Given the description of an element on the screen output the (x, y) to click on. 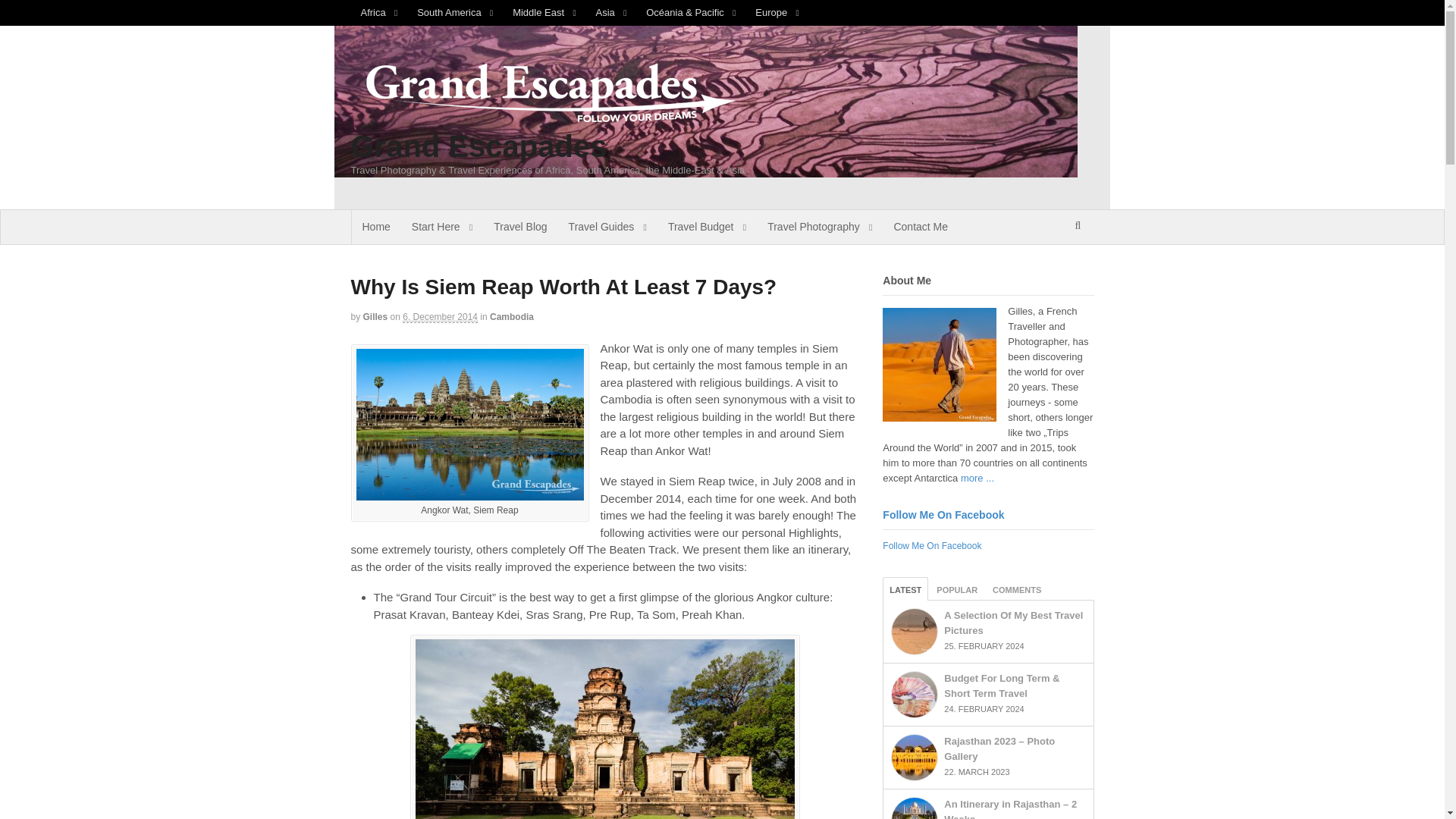
Africa (378, 12)
Posts by Gilles (375, 317)
Asia (611, 12)
Africa (378, 12)
Asia (611, 12)
Middle East (543, 12)
Middle East (543, 12)
View all items in Cambodia (511, 317)
Europe (776, 12)
South America (454, 12)
South America (454, 12)
